Given the description of an element on the screen output the (x, y) to click on. 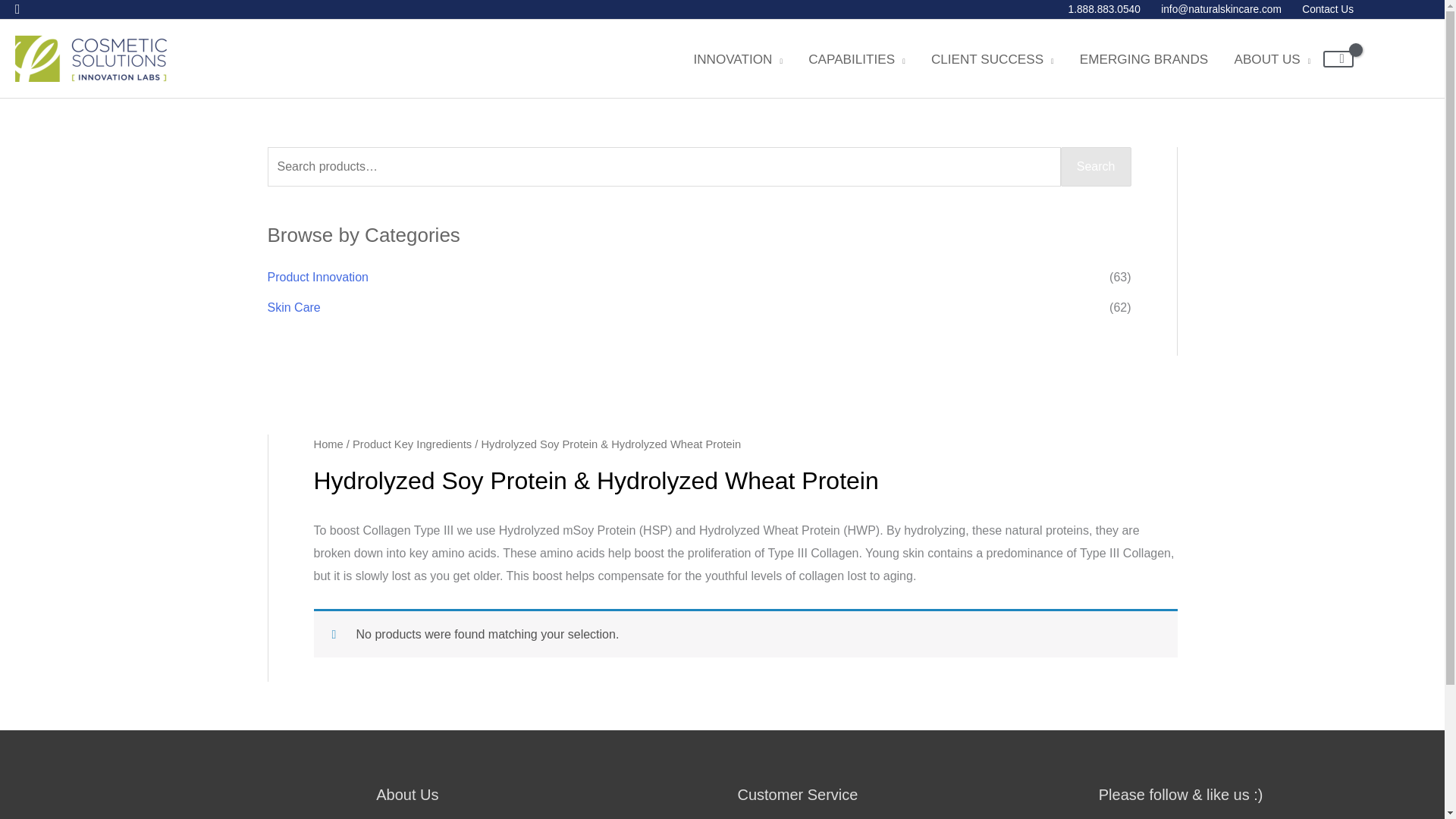
INNOVATION (736, 59)
ABOUT US (1272, 59)
EMERGING BRANDS (1144, 59)
1.888.883.0540 (1104, 9)
CLIENT SUCCESS (992, 59)
CAPABILITIES (856, 59)
Contact Us (1323, 9)
